Given the description of an element on the screen output the (x, y) to click on. 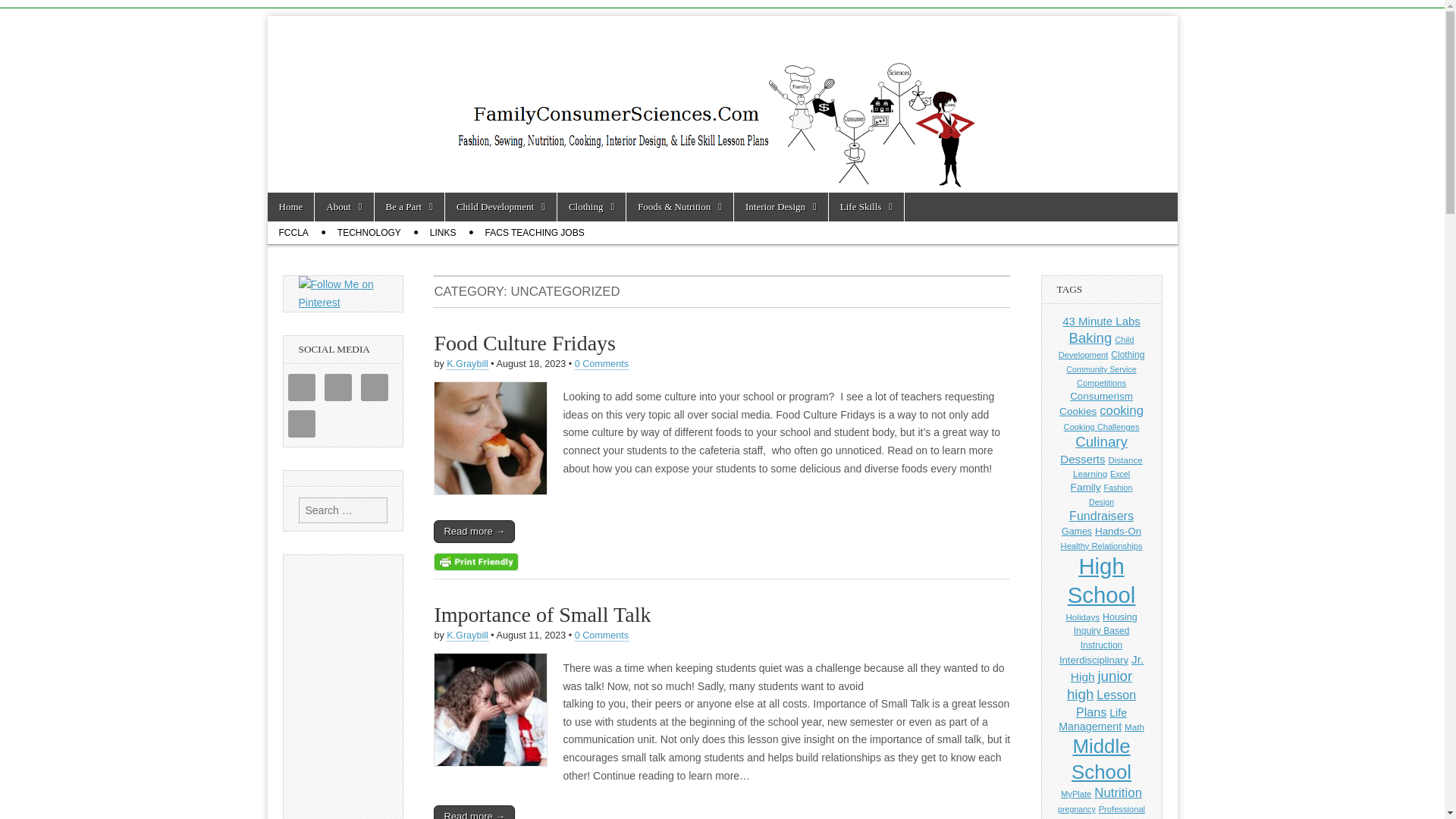
Posts by K.Graybill (466, 635)
Be a Part (409, 206)
FamilyConsumerSciences.com (507, 56)
Child Development (500, 206)
Life Skills (866, 206)
Posts by K.Graybill (466, 364)
Skip to content (296, 200)
Clothing (591, 206)
FamilyConsumerSciences.com (507, 56)
